Given the description of an element on the screen output the (x, y) to click on. 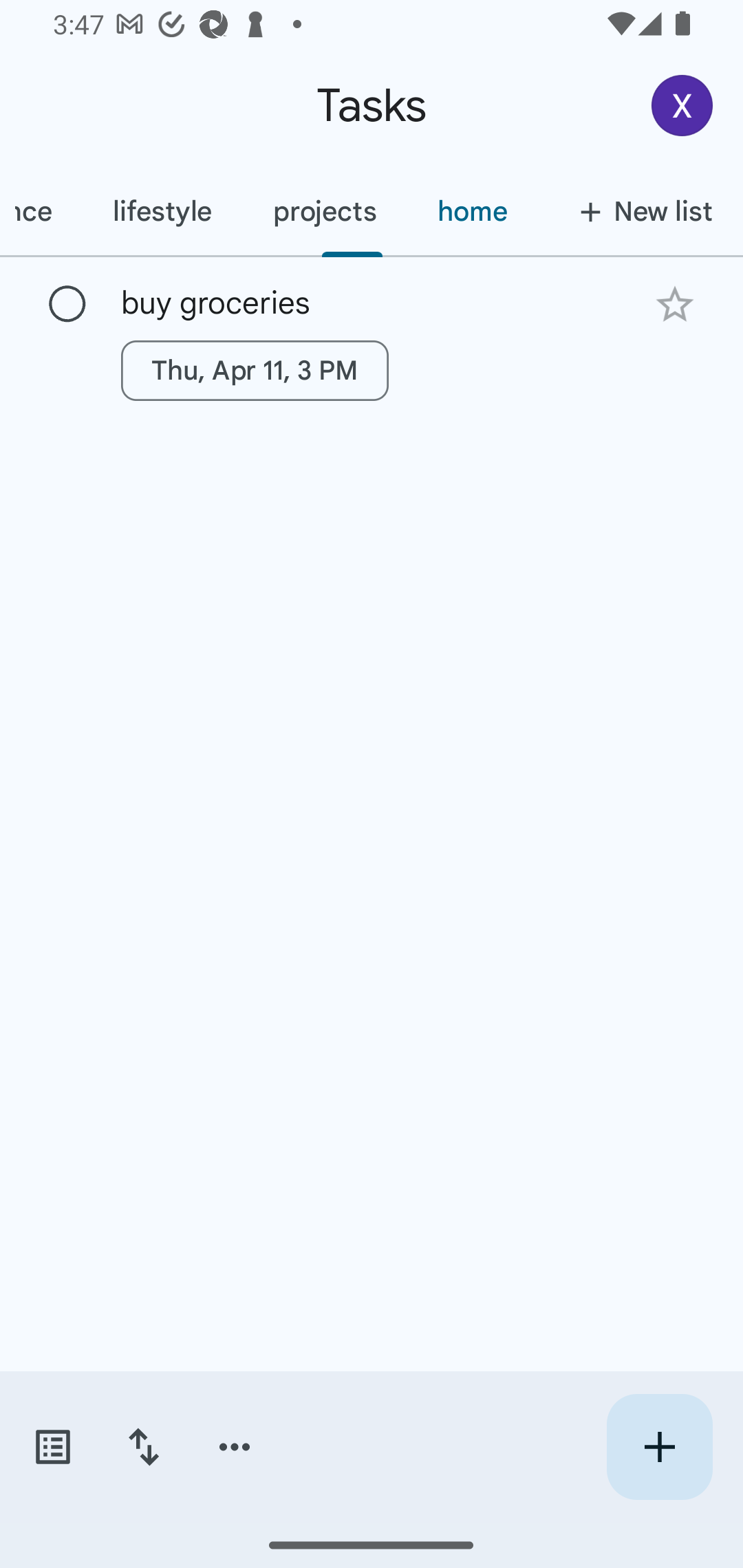
lifestyle (161, 211)
projects (324, 211)
New list (640, 211)
Add star (674, 303)
Mark as complete (67, 304)
Thu, Apr 11, 3 PM (254, 369)
Switch task lists (52, 1447)
Create new task (659, 1446)
Change sort order (143, 1446)
More options (234, 1446)
